Given the description of an element on the screen output the (x, y) to click on. 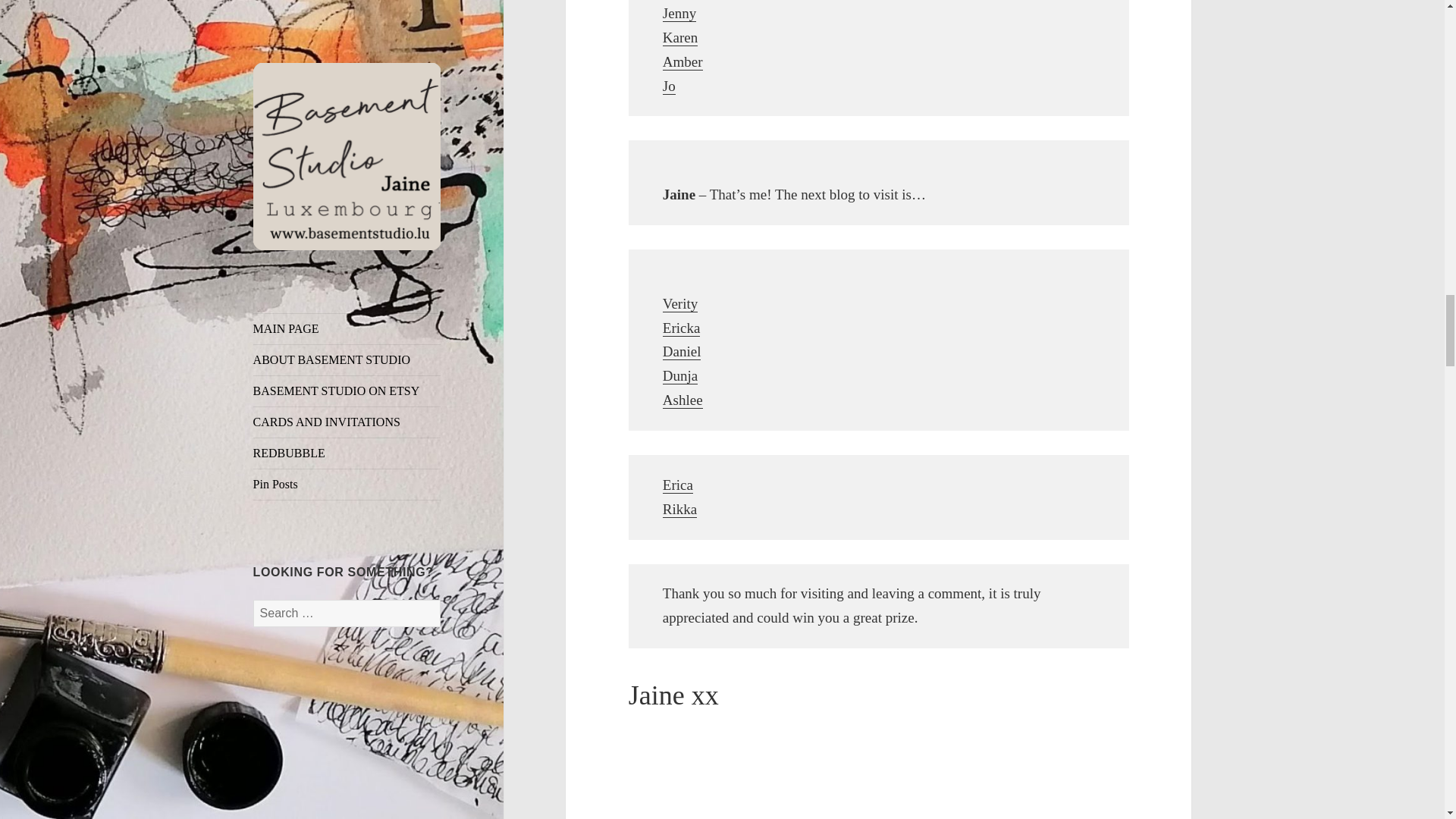
Dunja (679, 375)
Ericka (681, 328)
Rikka (679, 509)
Erica (677, 484)
Amber (682, 62)
Verity (679, 303)
Karen (679, 37)
Ashlee (682, 400)
Daniel (681, 351)
Jenny (678, 13)
